Given the description of an element on the screen output the (x, y) to click on. 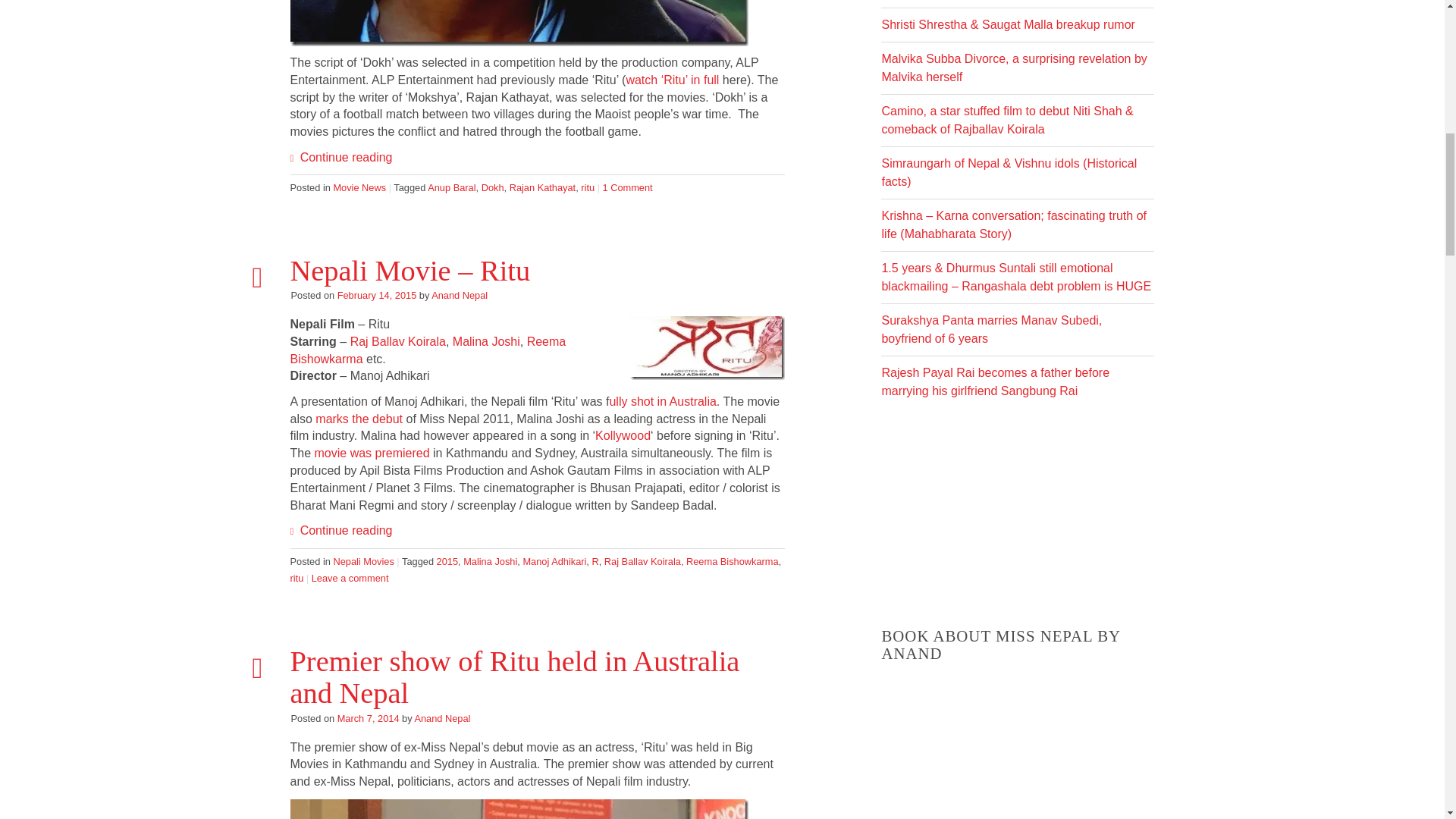
ully shot in Australia (662, 400)
ritu premier apil bista reema and malina (518, 809)
Movie News (359, 187)
Manoj Adhikari (554, 561)
Nepali Movies (363, 561)
Rajan Kathayat (542, 187)
movie was premiered (371, 452)
Malina Joshi (489, 561)
marks the debut (359, 418)
Reema Bishowkarma (427, 349)
Raj Ballav Koirala (397, 341)
ritu (707, 348)
anup baral (518, 22)
Dokh (492, 187)
Malina Joshi (485, 341)
